Given the description of an element on the screen output the (x, y) to click on. 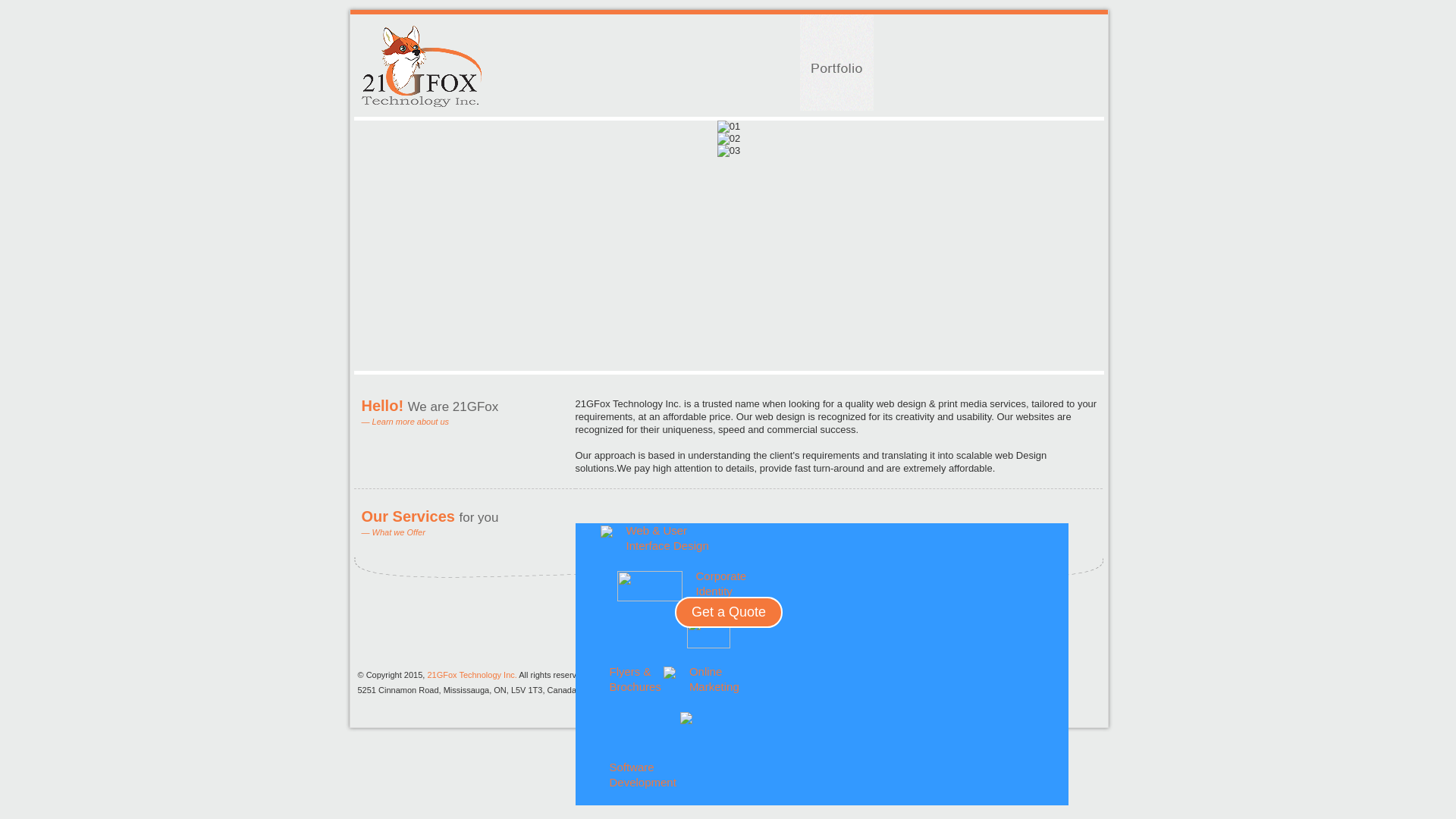
Get a Quote Element type: text (728, 611)
Learn more about us Element type: text (410, 421)
Corporate
Identity Element type: text (721, 583)
Web & User
Interface Design Element type: text (667, 538)
Online
Marketing Element type: text (714, 679)
What we Offer Element type: text (398, 531)
Software
Development Element type: text (642, 774)
Get a Quote Element type: hover (728, 611)
Flyers &
Brochures Element type: text (635, 679)
